Given the description of an element on the screen output the (x, y) to click on. 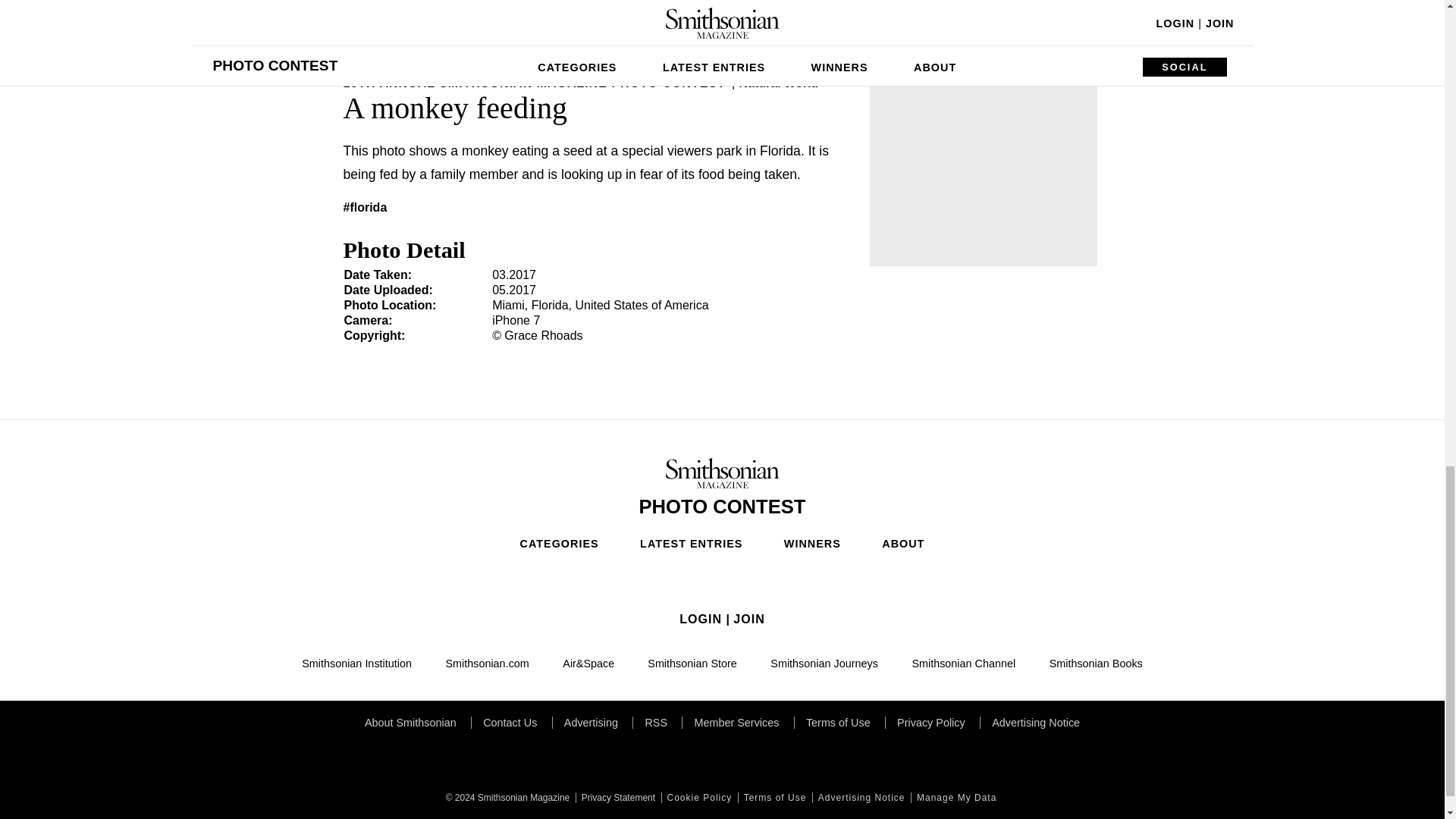
Cookie Policy (698, 797)
Advertising Notice (859, 797)
Terms of Use (773, 797)
Privacy Statement (616, 797)
Manage My Data (954, 797)
